Given the description of an element on the screen output the (x, y) to click on. 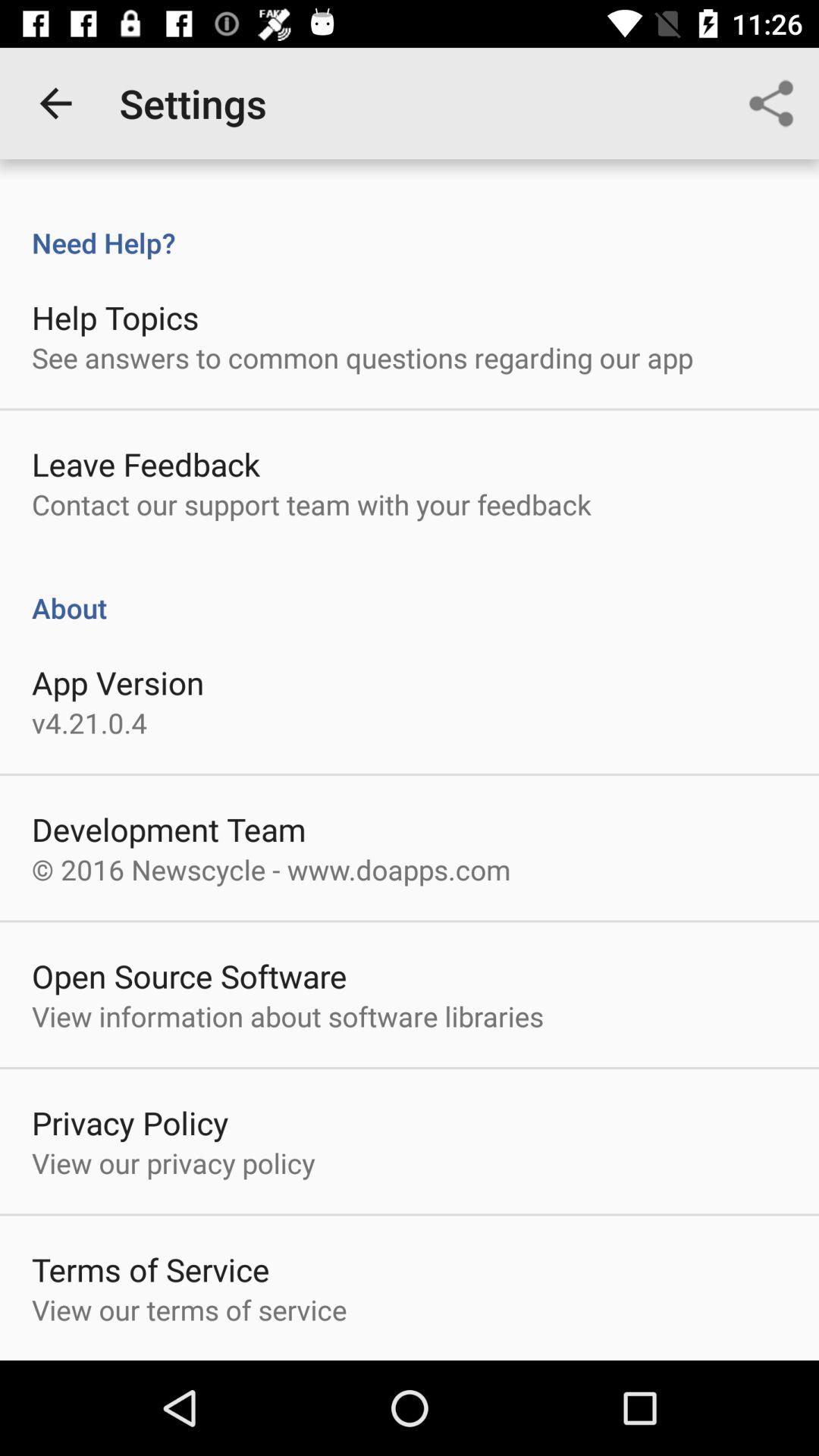
turn on item next to the settings (55, 103)
